Given the description of an element on the screen output the (x, y) to click on. 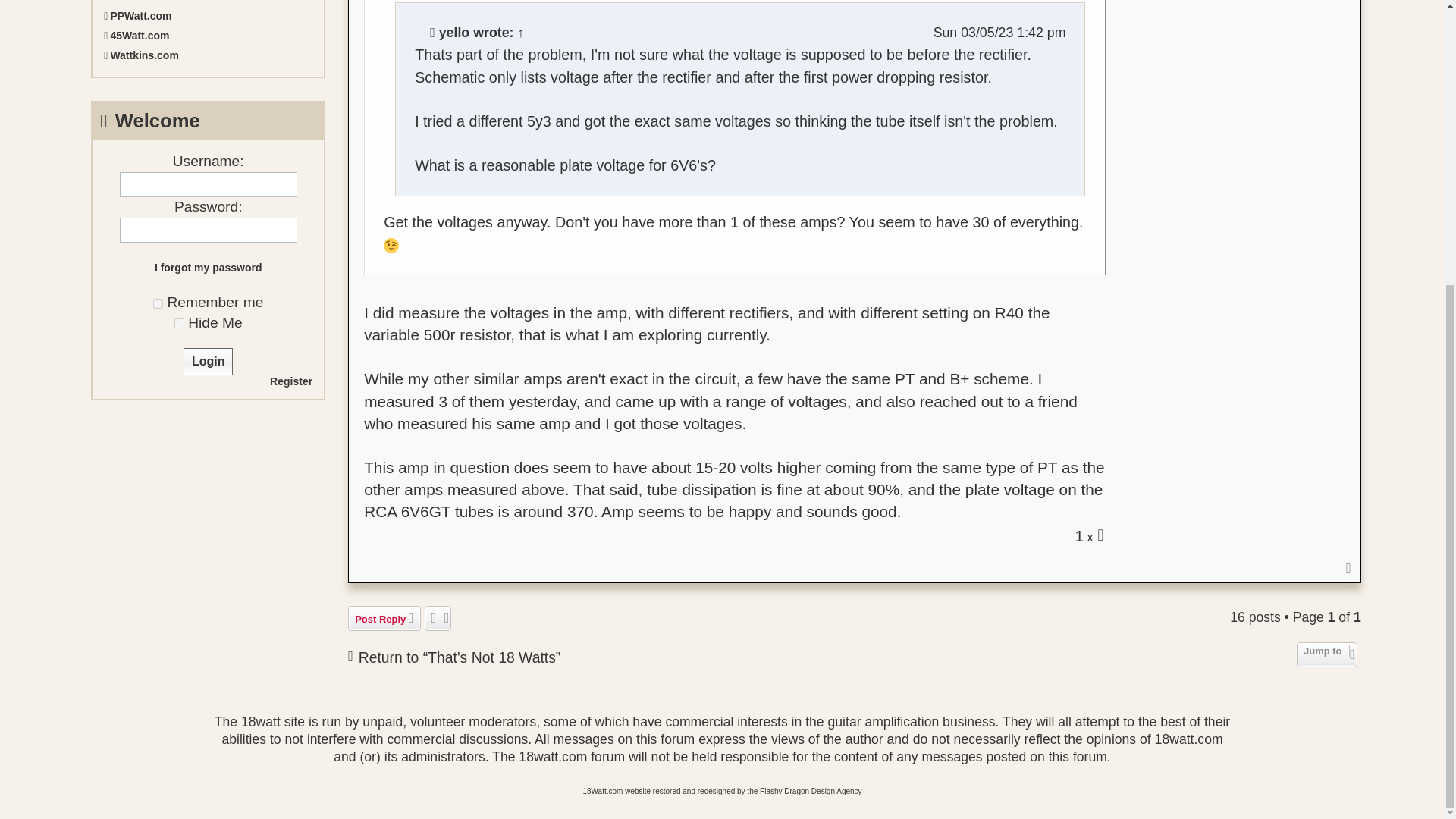
Login (207, 361)
Top (1348, 567)
JMPGuitars (1078, 535)
on (157, 303)
45Watt.com (208, 35)
Login (207, 361)
Wattkins.com (208, 55)
PPWatt.com (208, 15)
on (179, 323)
I forgot my password (208, 267)
yello (454, 33)
SEWatt.com (208, 1)
Register (291, 381)
